Given the description of an element on the screen output the (x, y) to click on. 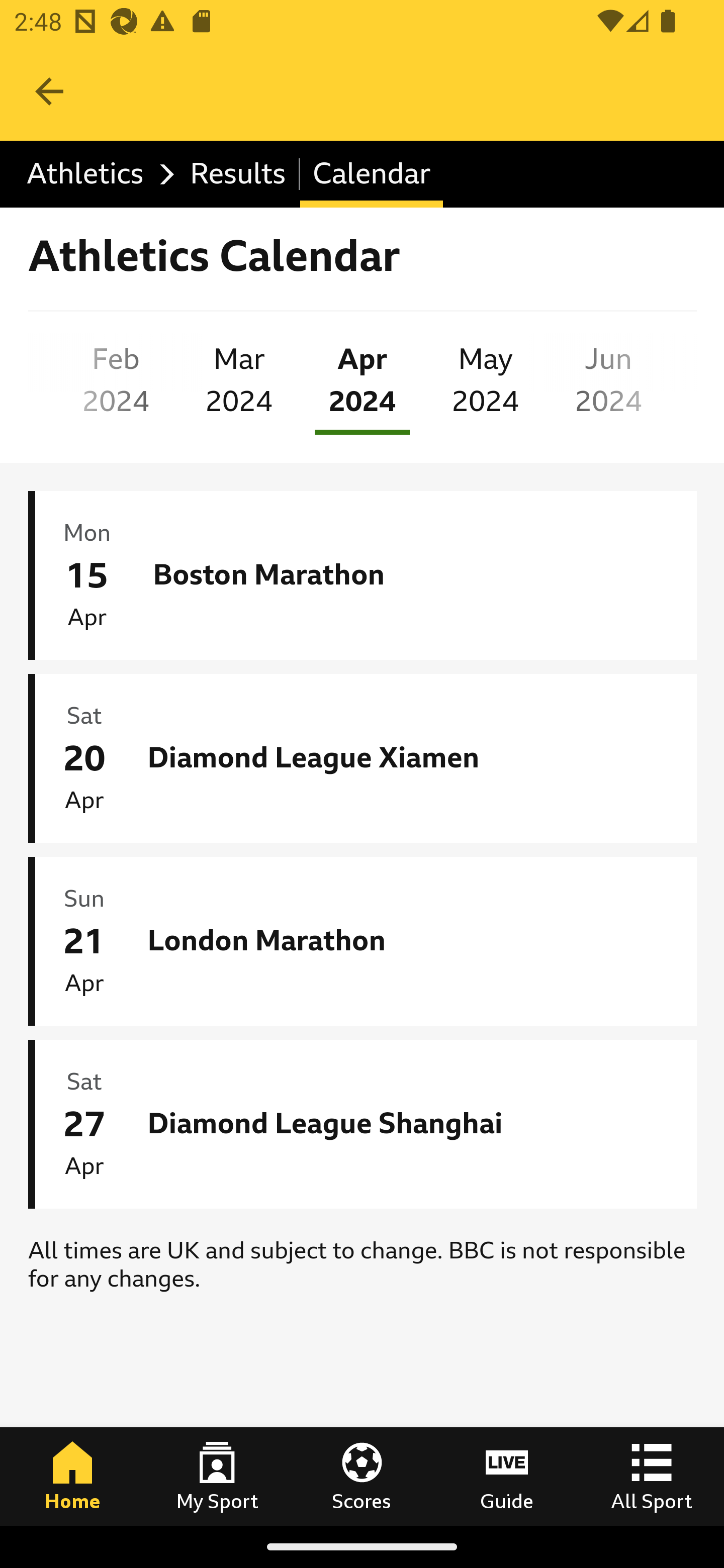
Navigate up (49, 91)
My Sport (216, 1475)
Scores (361, 1475)
Guide (506, 1475)
All Sport (651, 1475)
